Given the description of an element on the screen output the (x, y) to click on. 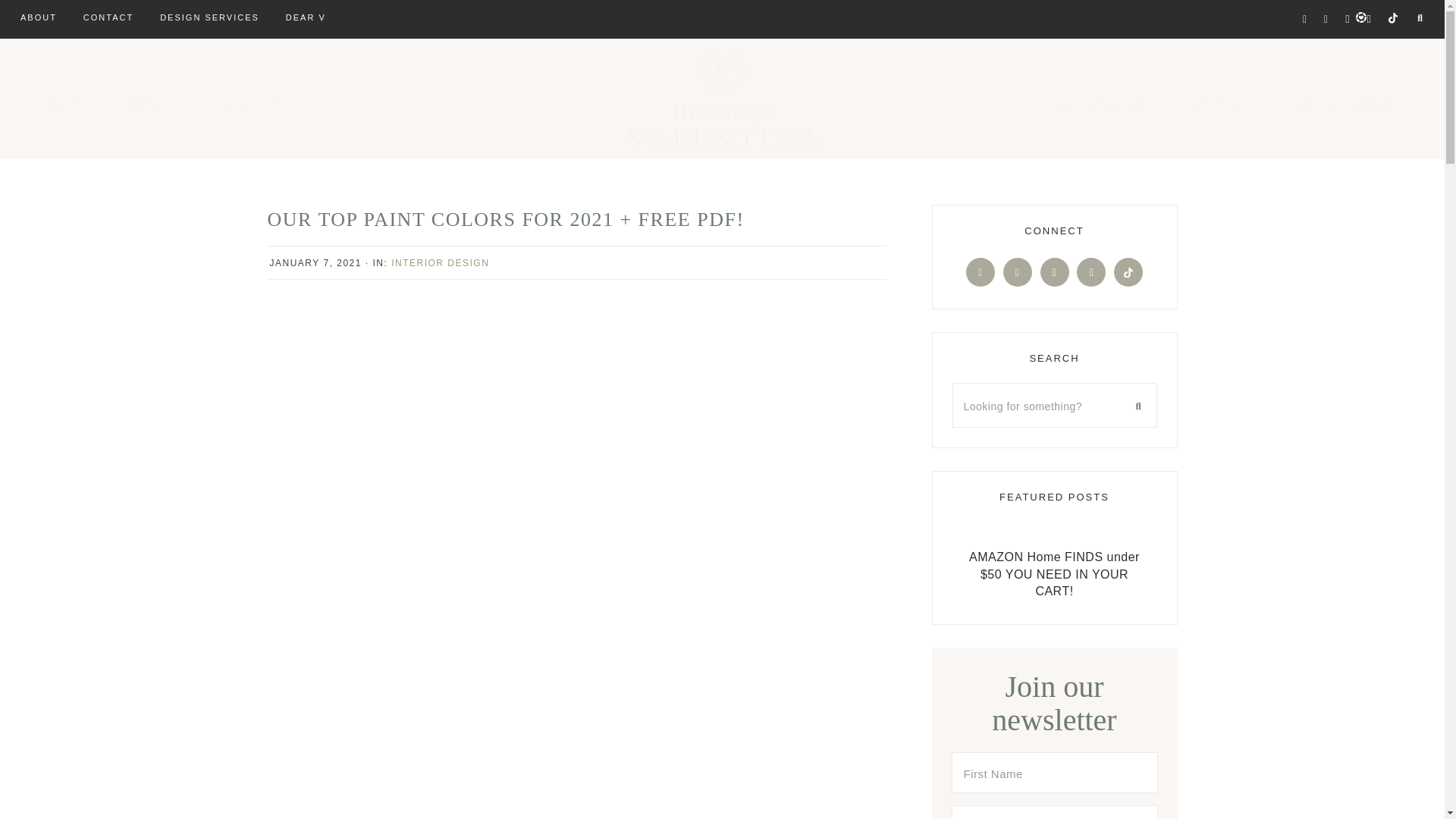
HOME (66, 104)
AMAZON SHOP (1104, 104)
ABOUT (38, 18)
YOUTUBE (1220, 104)
SHOP OUR HOME (1342, 104)
DEAR V (306, 18)
CONTACT (107, 18)
BLOG (143, 104)
SHOP MY LTK (242, 104)
DESIGN SERVICES (209, 18)
